Given the description of an element on the screen output the (x, y) to click on. 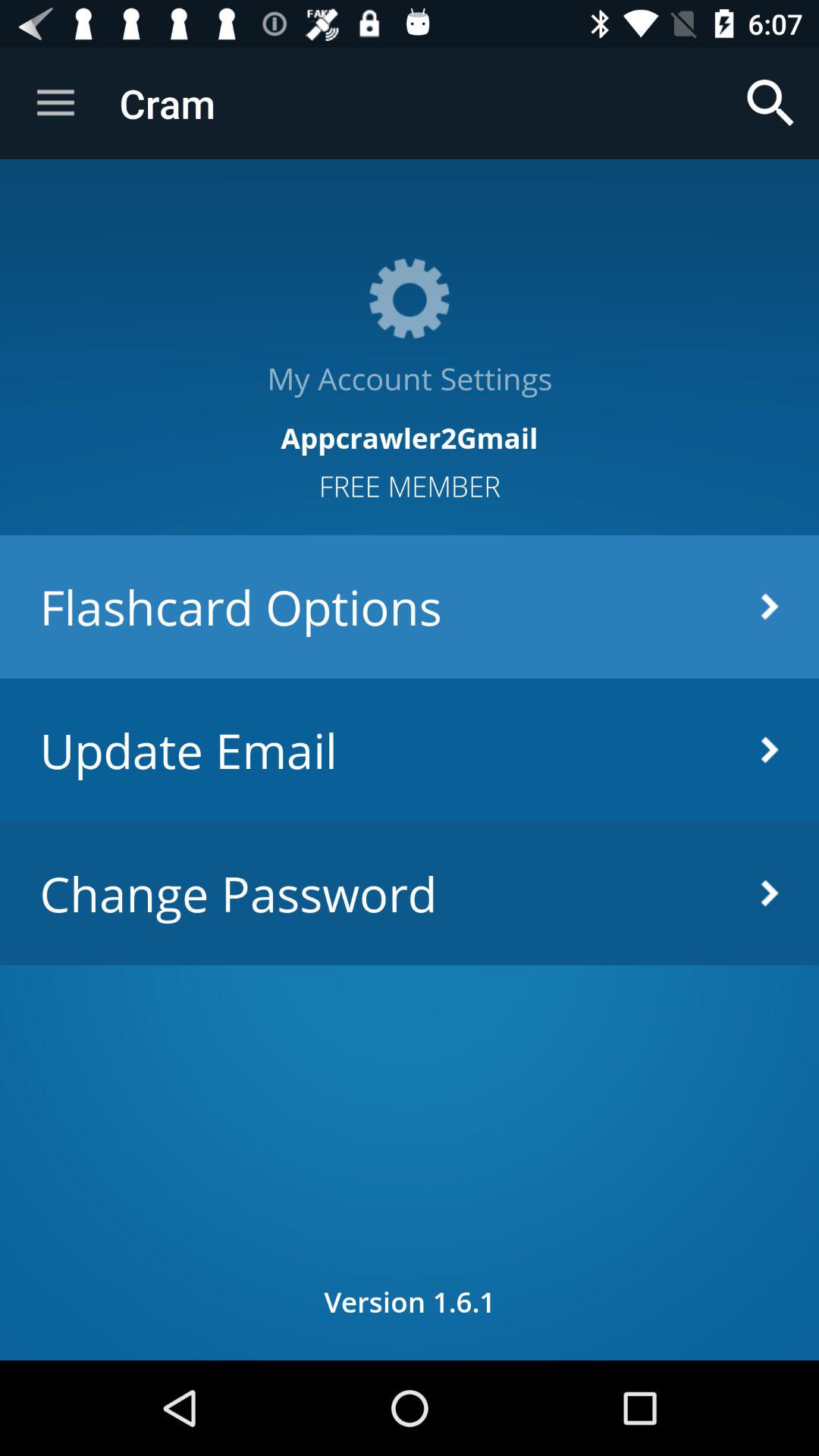
click item above the my account settings (771, 103)
